Given the description of an element on the screen output the (x, y) to click on. 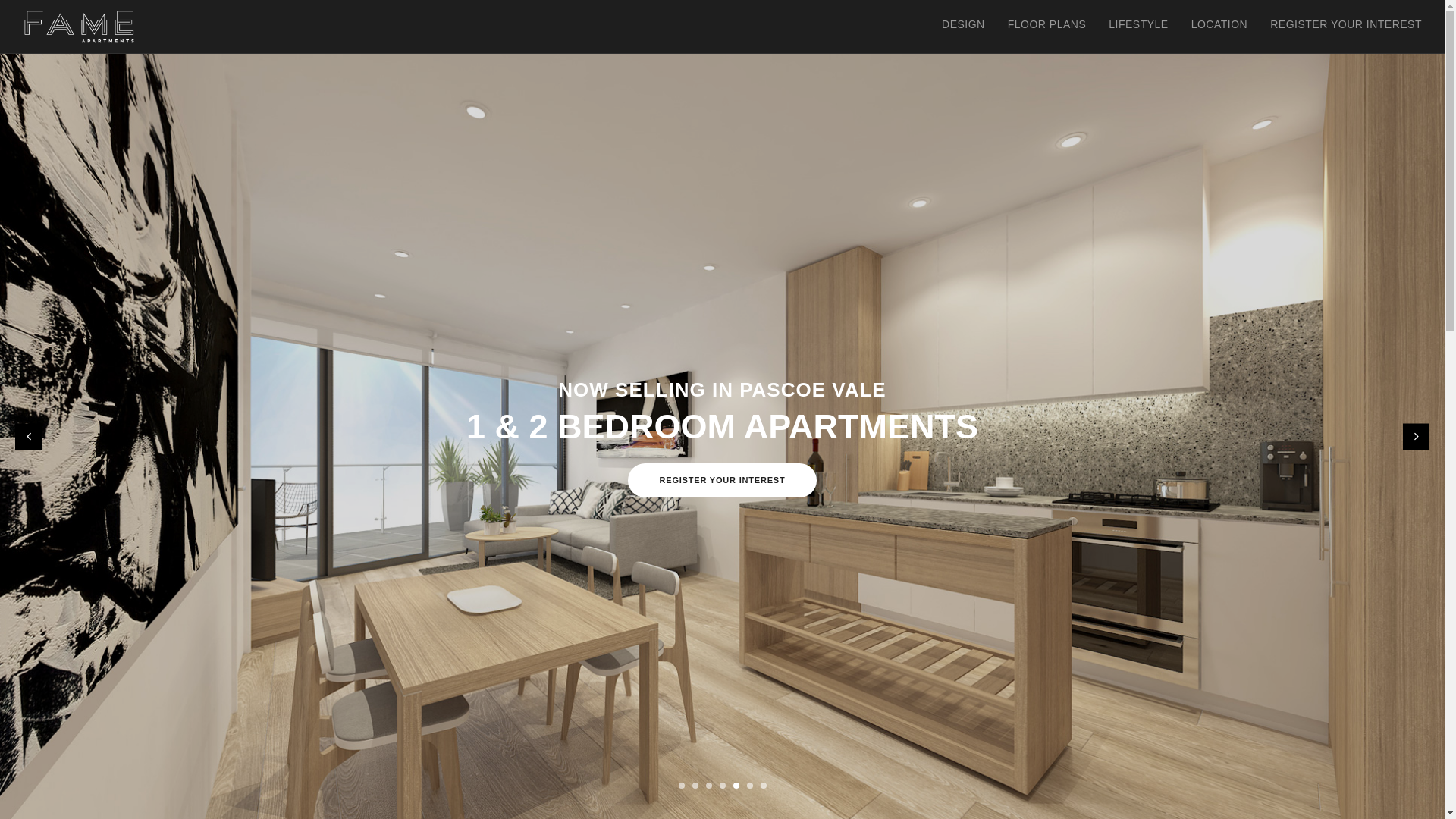
LOCATION Element type: text (1219, 24)
REGISTER YOUR INTEREST Element type: text (722, 480)
DESIGN Element type: text (963, 24)
REGISTER YOUR INTEREST Element type: text (1345, 24)
FLOOR PLANS Element type: text (1047, 24)
LIFESTYLE Element type: text (1138, 24)
NOW SELLING IN PASCOE VALE Element type: text (721, 389)
